Given the description of an element on the screen output the (x, y) to click on. 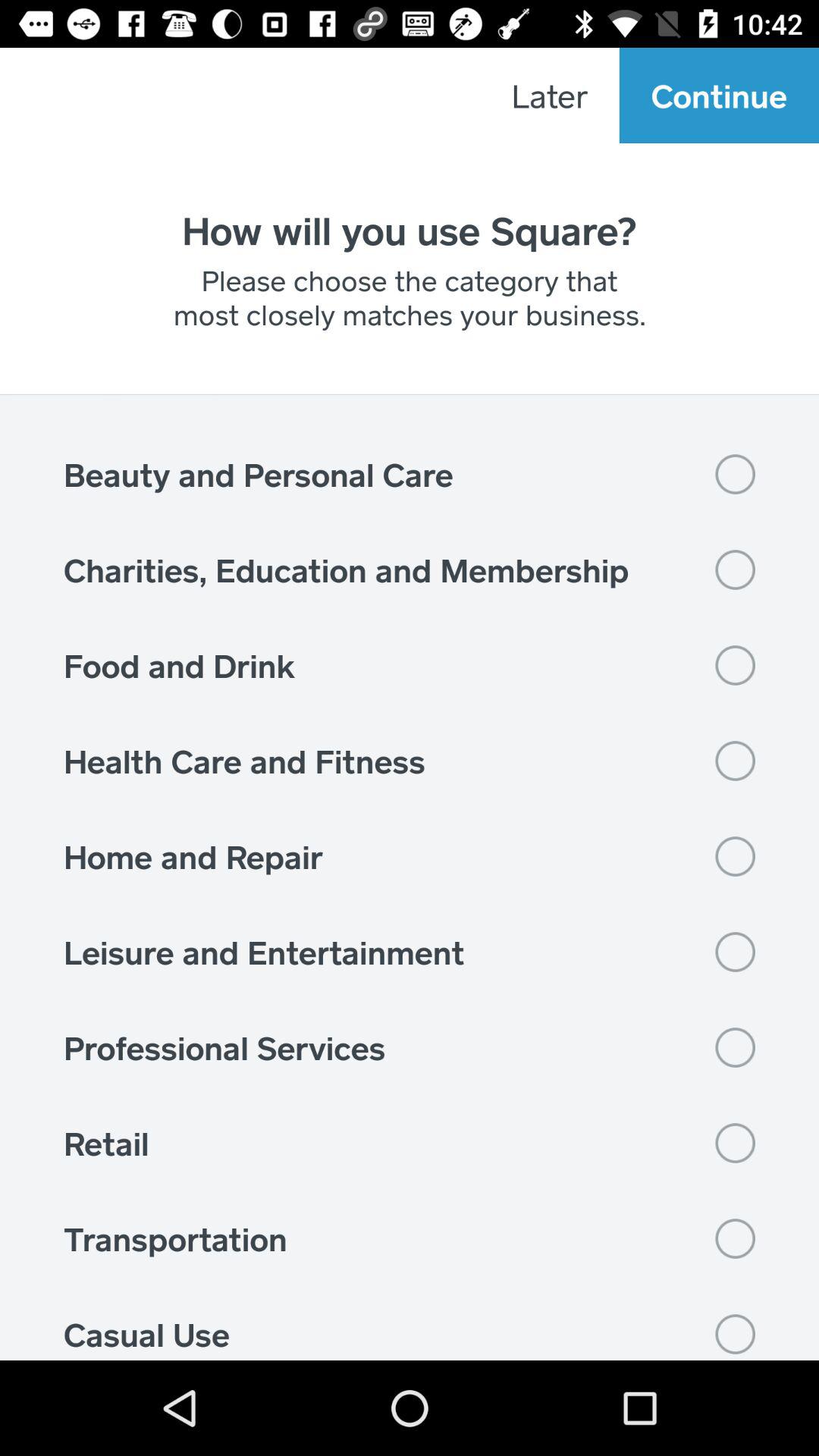
turn off the icon below the retail icon (409, 1238)
